Given the description of an element on the screen output the (x, y) to click on. 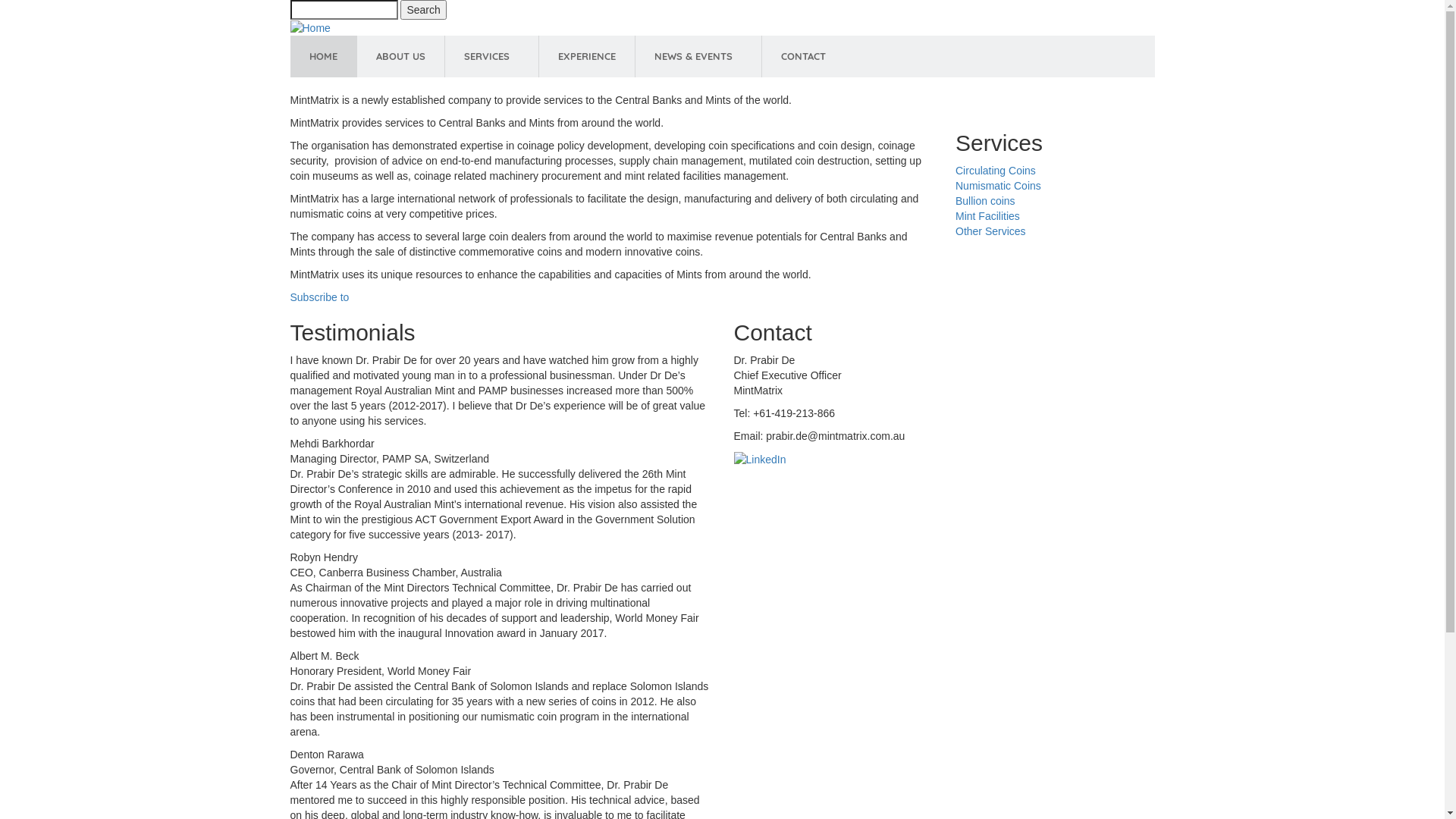
ABOUT US Element type: text (399, 56)
Other Services Element type: text (990, 231)
Bullion coins Element type: text (985, 200)
Mint Facilities Element type: text (987, 216)
Home Element type: hover (309, 27)
NEWS & EVENTS Element type: text (698, 56)
Search Element type: text (422, 9)
HOME Element type: text (322, 56)
CONTACT Element type: text (802, 56)
Skip to main content Element type: text (0, 0)
EXPERIENCE Element type: text (585, 56)
Circulating Coins Element type: text (995, 170)
Subscribe to Element type: text (318, 297)
Enter the terms you wish to search for. Element type: hover (343, 9)
SERVICES Element type: text (490, 56)
Numismatic Coins Element type: text (998, 185)
